Given the description of an element on the screen output the (x, y) to click on. 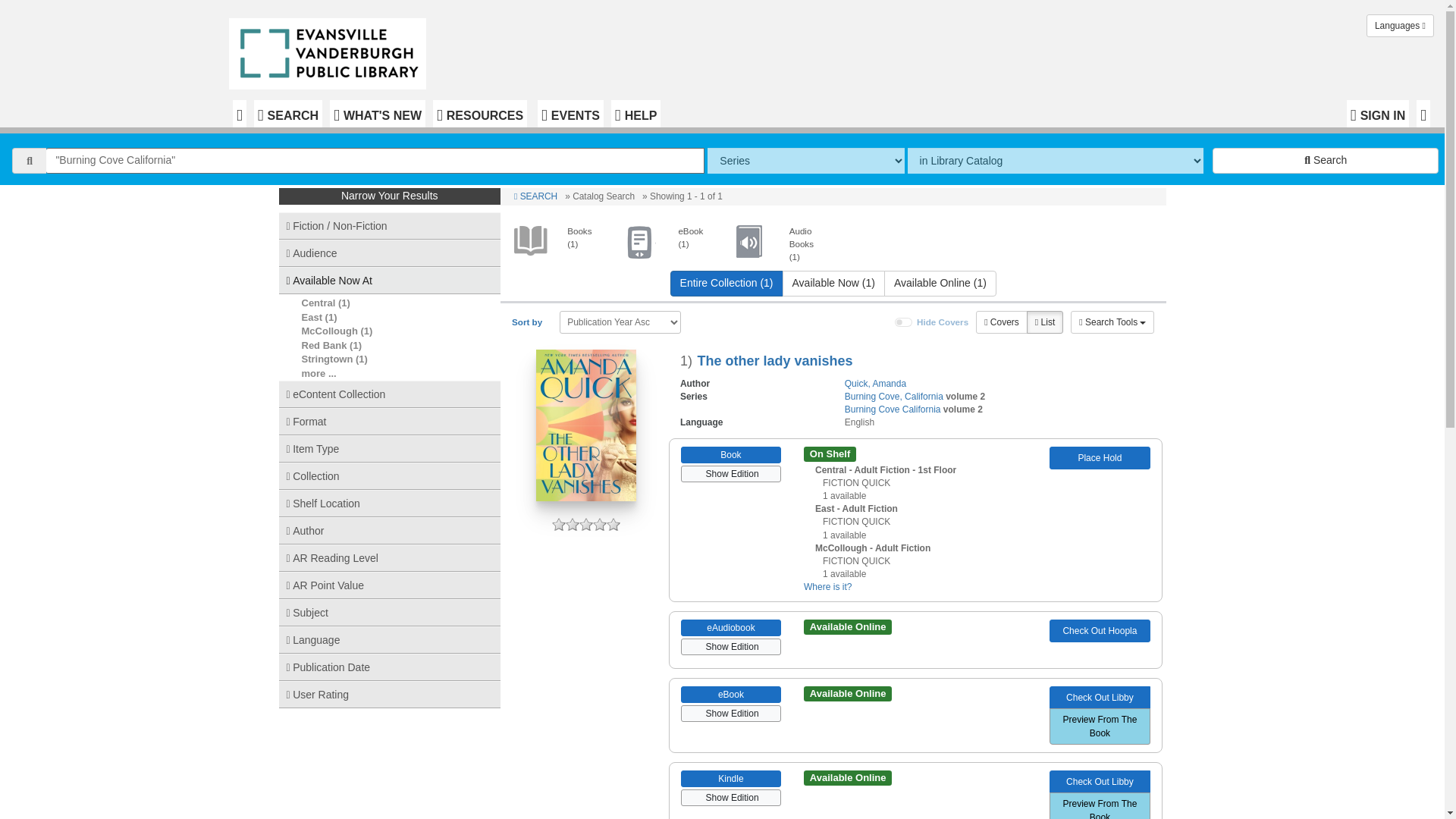
on (903, 321)
Library Home Page (330, 49)
Languages  (1400, 25)
more ... (318, 373)
EVENTS (570, 113)
HELP (636, 113)
The method of searching. (805, 160)
SEARCH (287, 113)
Central (318, 302)
Stringtown (327, 358)
 Search (1325, 160)
SIGN IN (1377, 113)
"Burning Cove California" (375, 160)
Red Bank (324, 345)
